Given the description of an element on the screen output the (x, y) to click on. 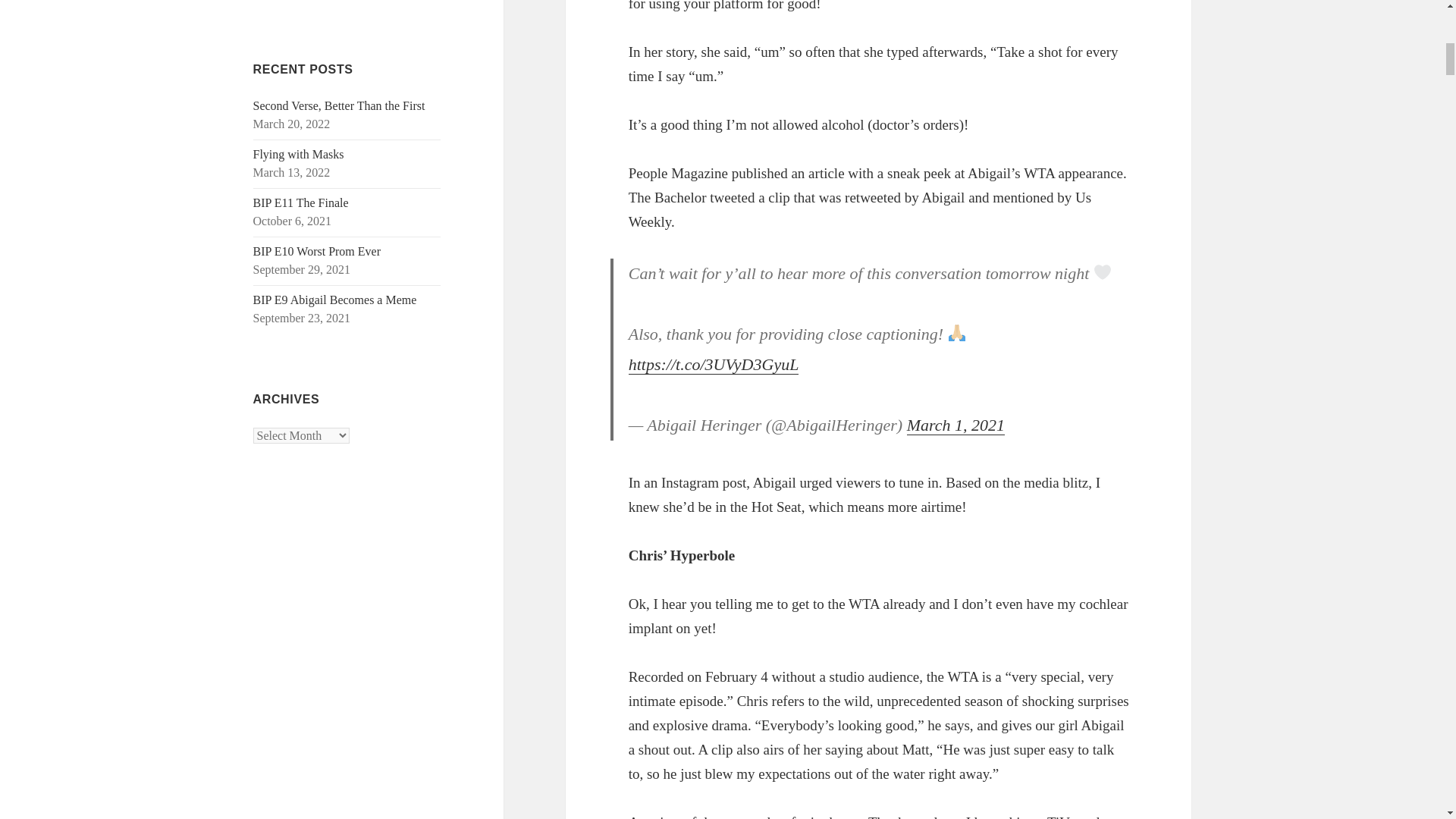
Flying with Masks (298, 154)
March 1, 2021 (955, 424)
BIP E10 Worst Prom Ever (316, 250)
BIP E9 Abigail Becomes a Meme (334, 299)
BIP E11 The Finale (301, 202)
Second Verse, Better Than the First (339, 105)
